Given the description of an element on the screen output the (x, y) to click on. 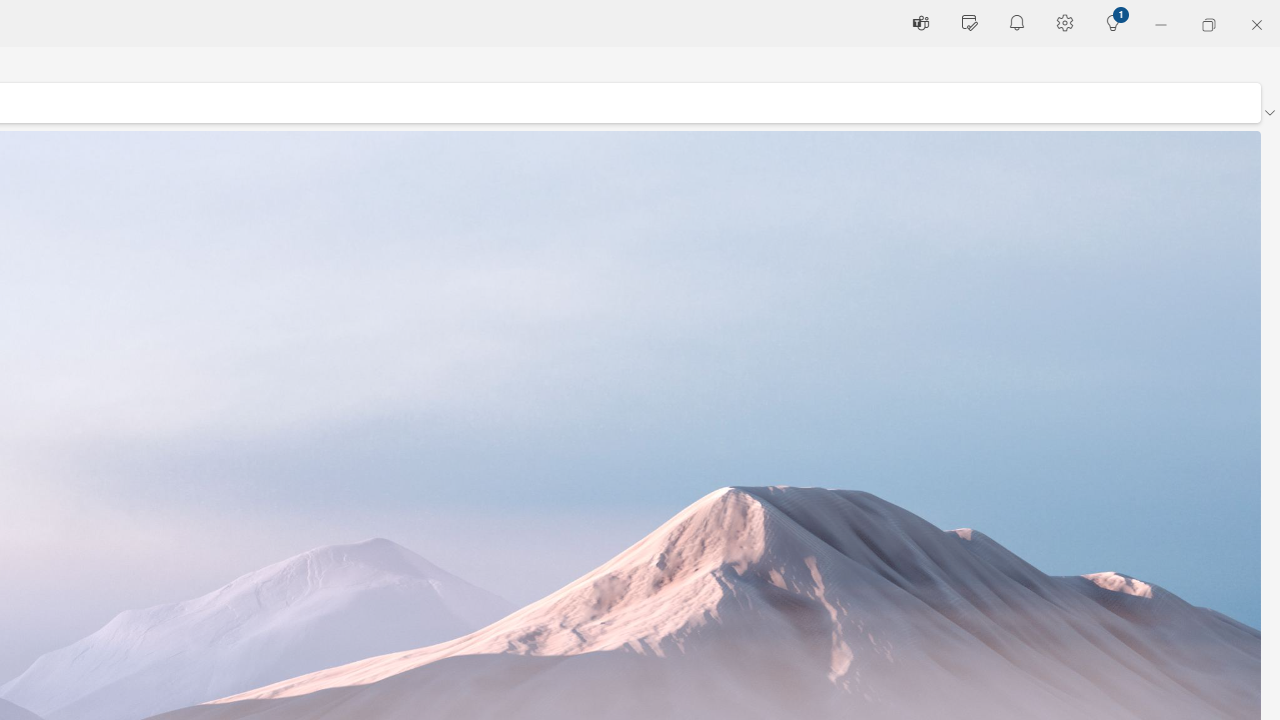
Ribbon display options (1269, 112)
